Given the description of an element on the screen output the (x, y) to click on. 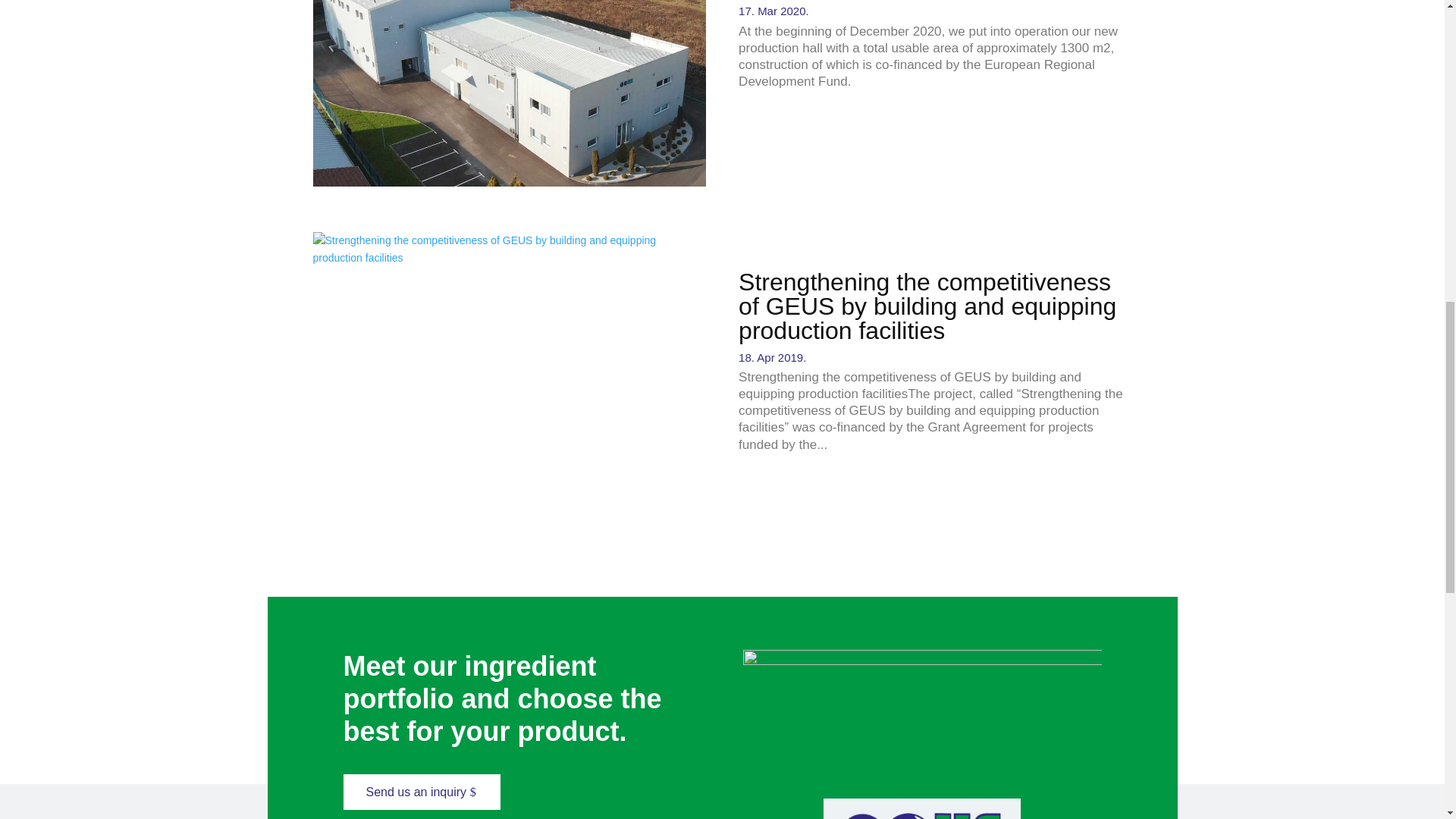
slide-1 (922, 733)
geus-logo-ver-3 (922, 808)
